Given the description of an element on the screen output the (x, y) to click on. 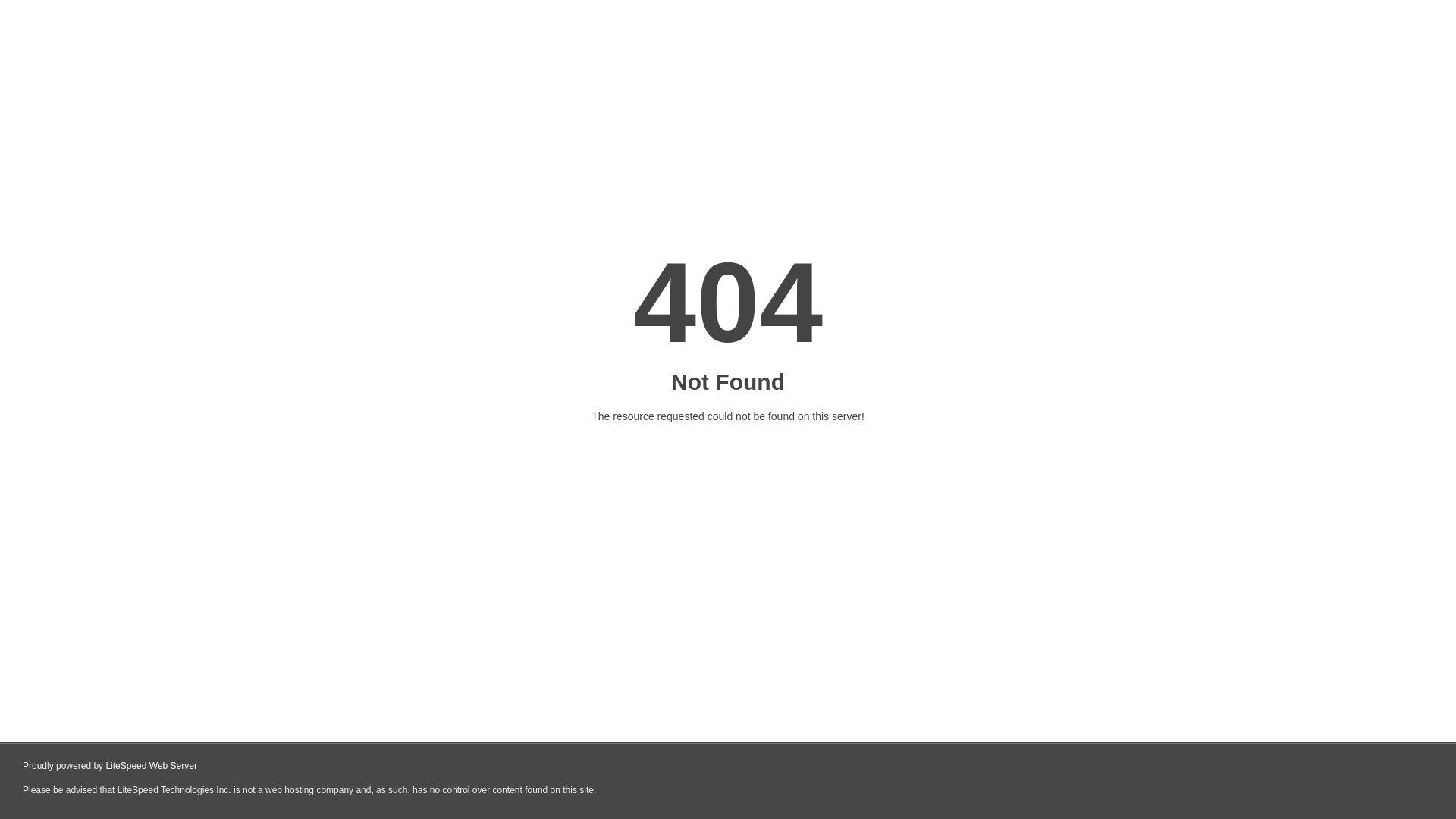
LiteSpeed Web Server Element type: text (151, 765)
